Given the description of an element on the screen output the (x, y) to click on. 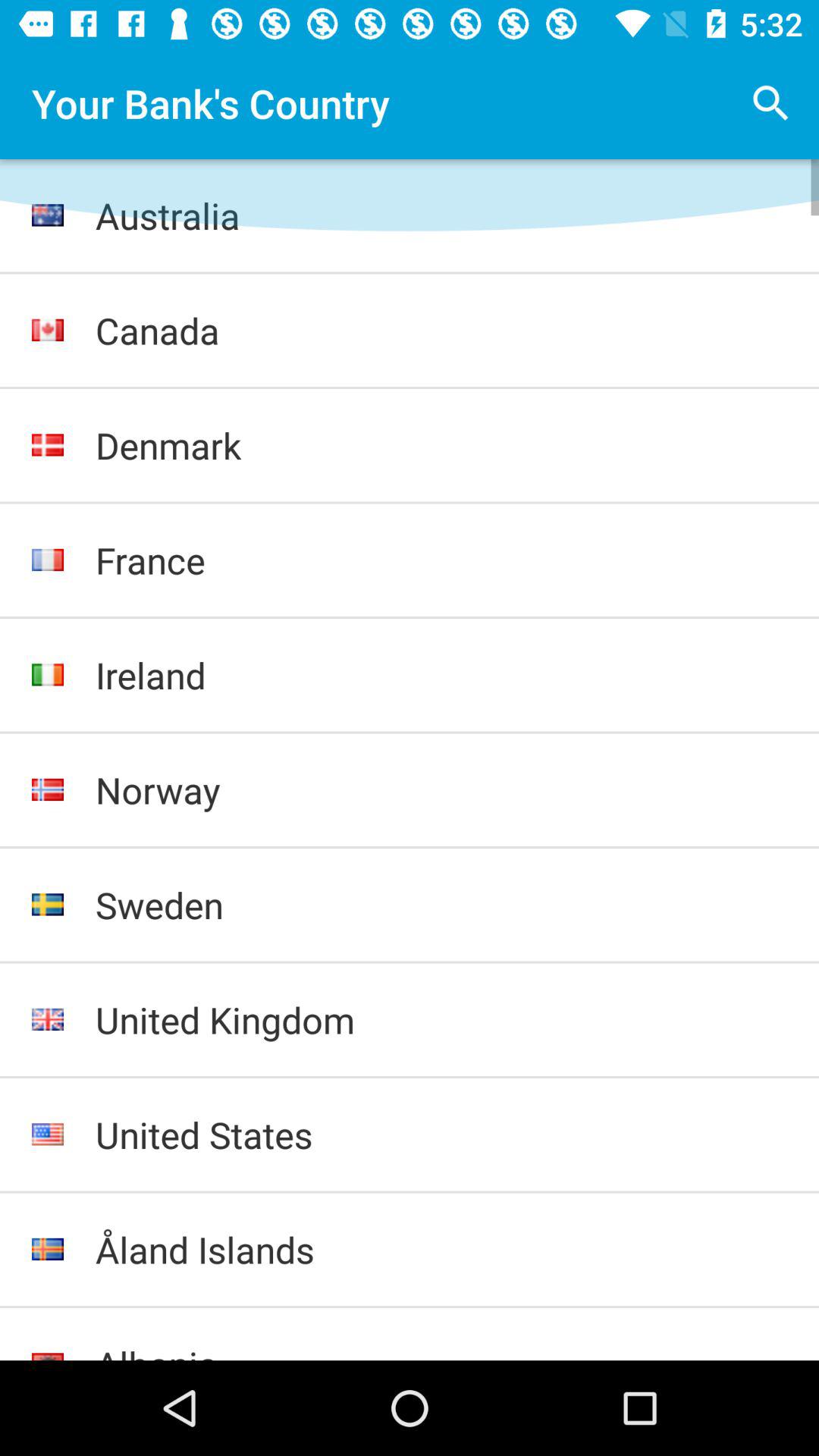
tap united kingdom (441, 1019)
